Given the description of an element on the screen output the (x, y) to click on. 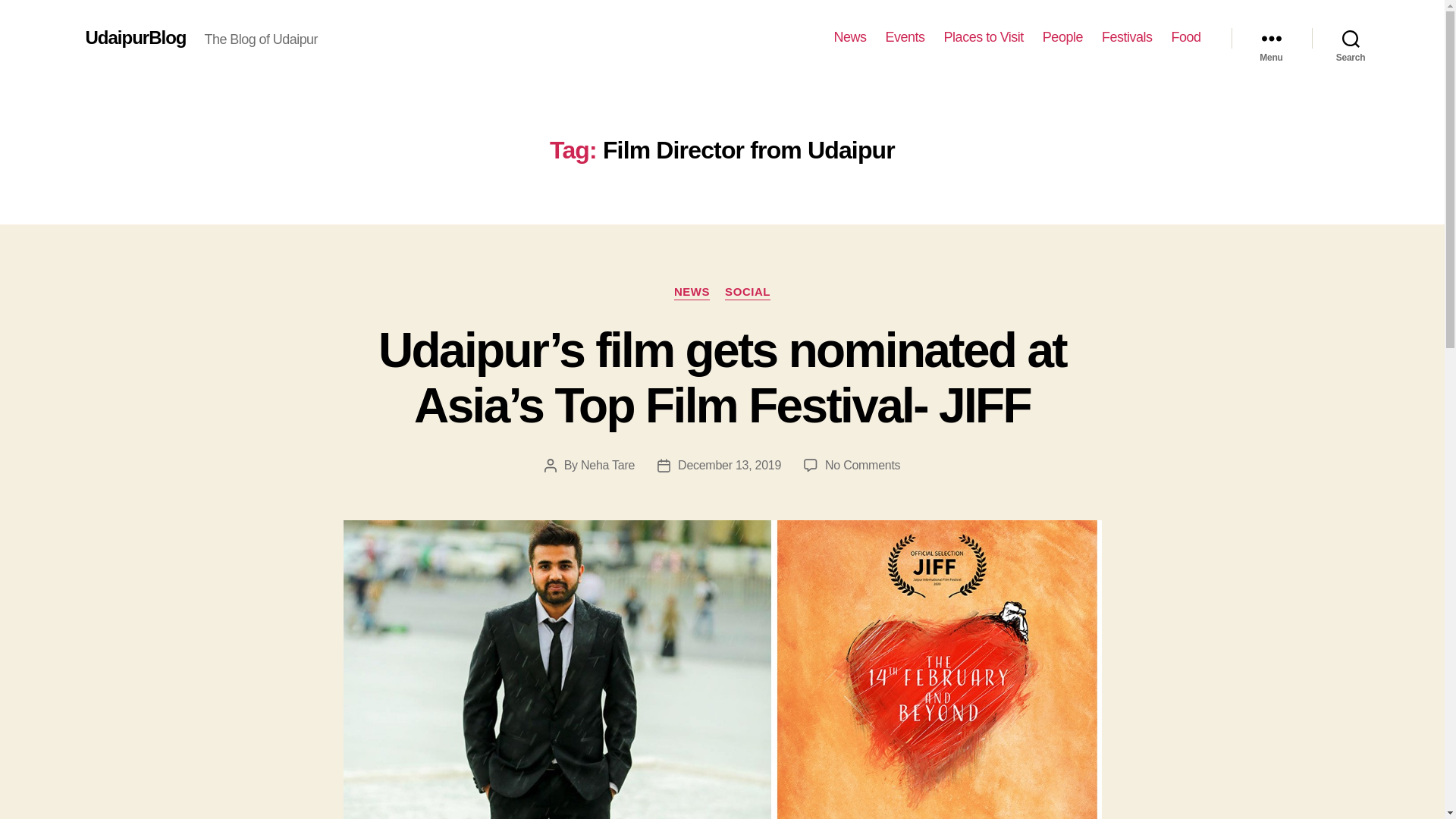
NEWS (692, 292)
SOCIAL (747, 292)
Search (1350, 37)
UdaipurBlog (135, 37)
Food (1184, 37)
Festivals (1127, 37)
People (1062, 37)
Places to Visit (983, 37)
Neha Tare (607, 464)
Menu (1271, 37)
Events (904, 37)
News (850, 37)
December 13, 2019 (729, 464)
